Given the description of an element on the screen output the (x, y) to click on. 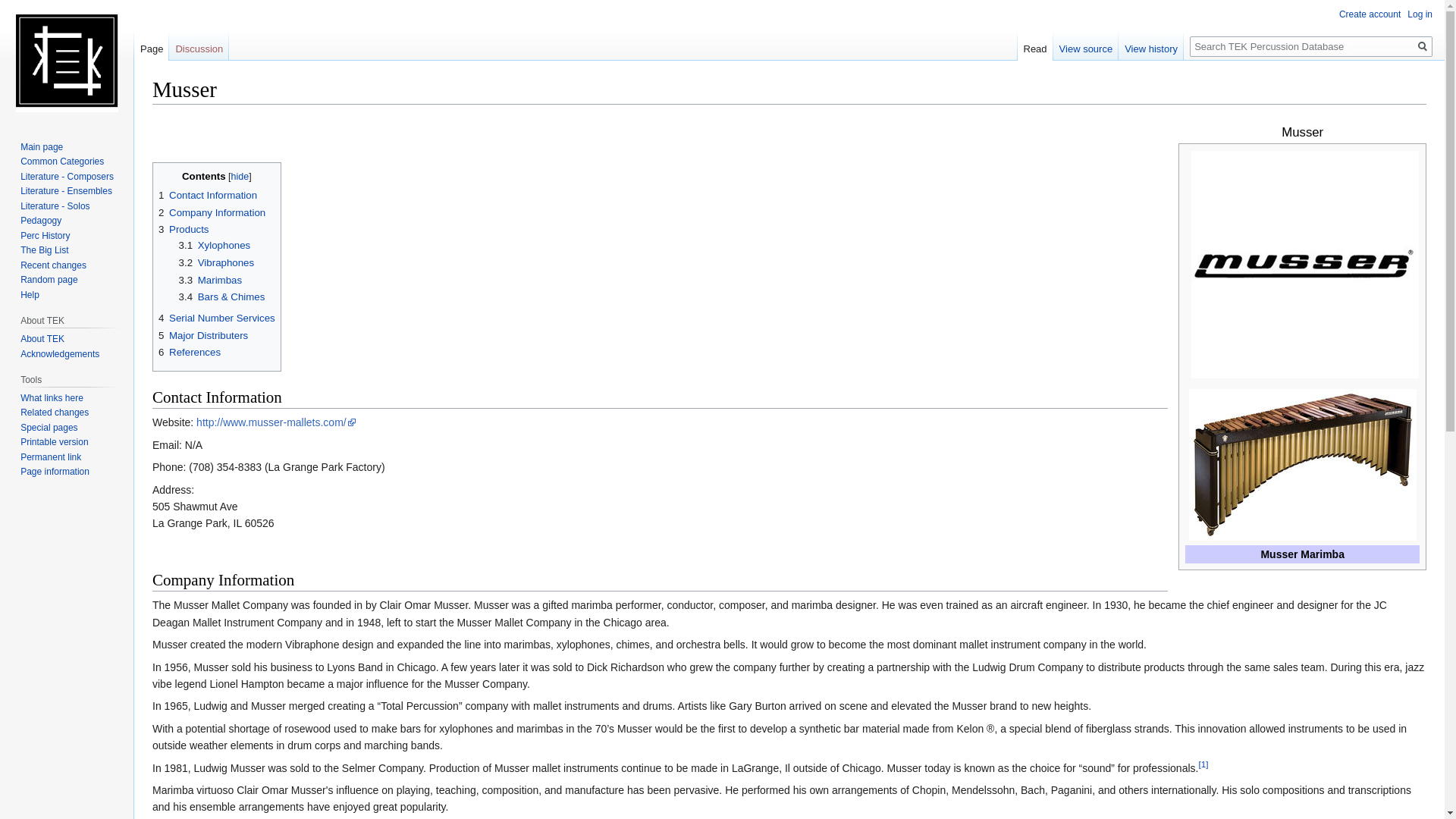
3.1 Xylophones (214, 244)
Read (1034, 45)
Search (1422, 46)
1 Contact Information (207, 194)
Search the pages for this text (1422, 46)
5 Major Distributers (202, 335)
Go (1422, 46)
Search (1422, 46)
Go (1422, 46)
6 References (189, 351)
3.2 Vibraphones (216, 262)
2 Company Information (211, 211)
Discussion (198, 45)
Page (150, 45)
